Given the description of an element on the screen output the (x, y) to click on. 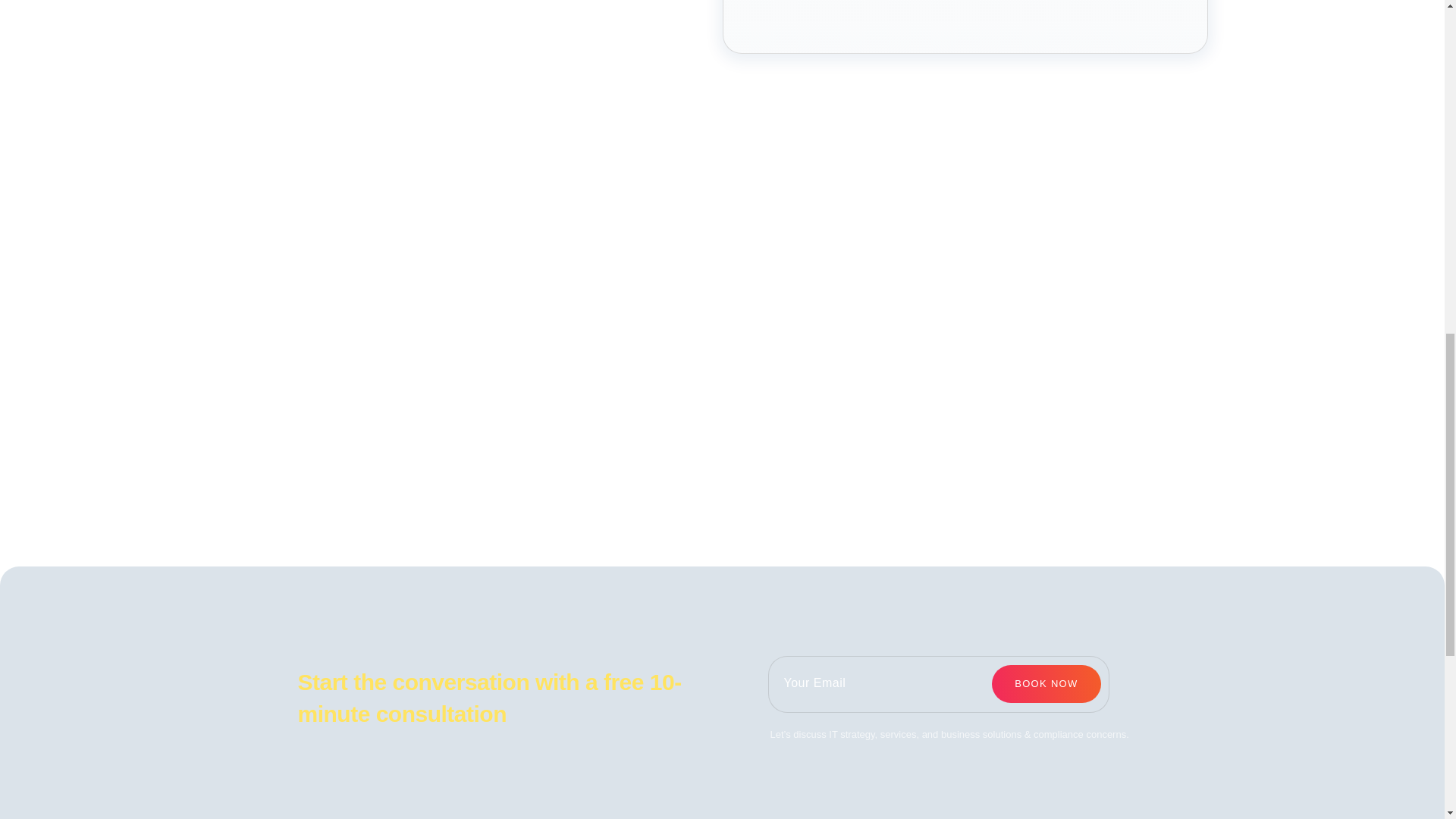
BOOK NOW (1045, 683)
